Given the description of an element on the screen output the (x, y) to click on. 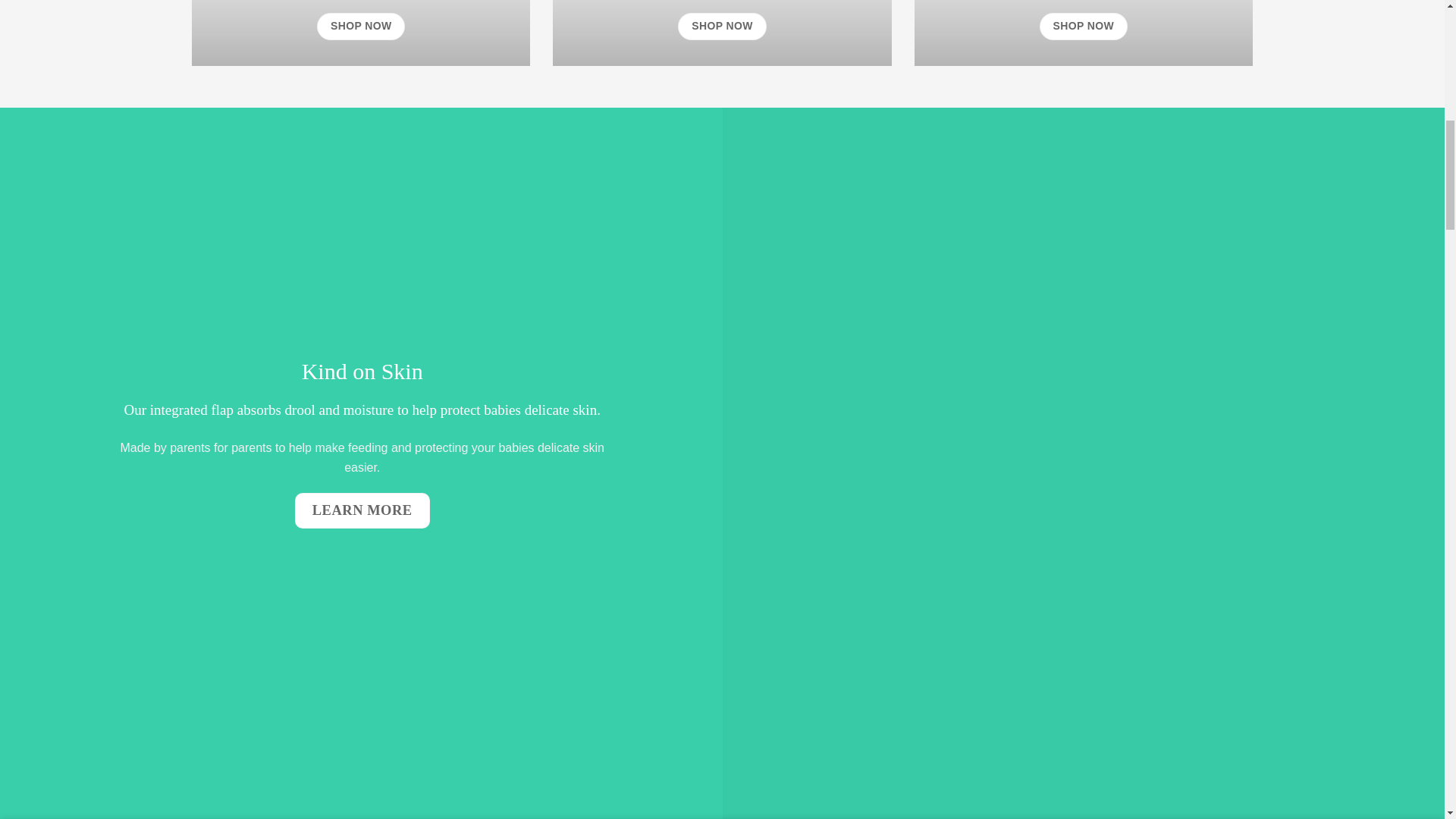
SHOP NOW (721, 26)
LEARN MORE (362, 510)
SHOP NOW (1082, 26)
SHOP NOW (360, 26)
